Given the description of an element on the screen output the (x, y) to click on. 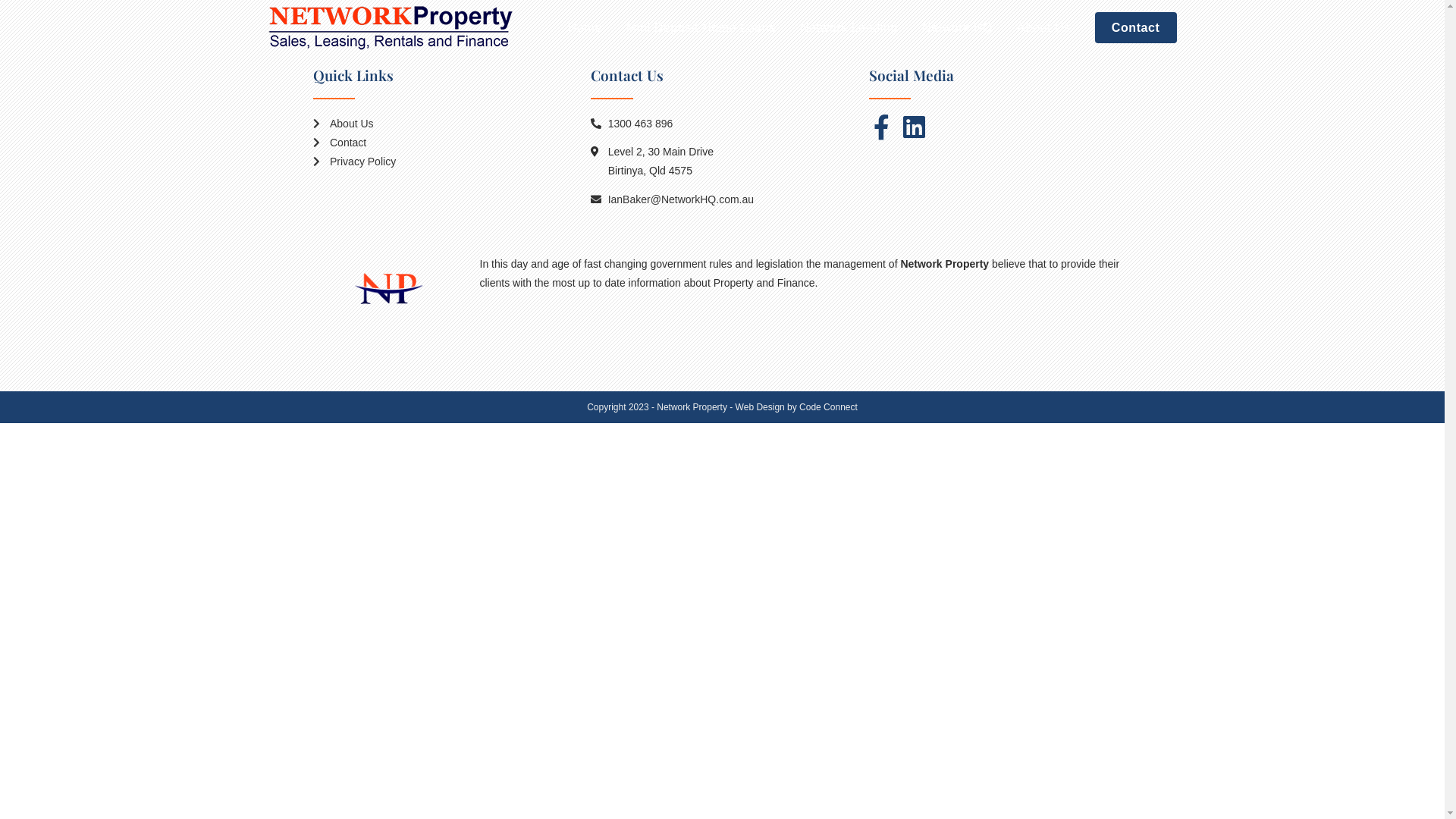
Privacy Policy Element type: text (443, 161)
Contact Element type: text (443, 142)
Web Design by Code Connect Element type: text (796, 406)
Home Element type: text (584, 28)
About Us Element type: text (1043, 28)
Mini Deposit Home Loans Element type: text (700, 28)
Network Lending Element type: text (848, 28)
Network HQ Element type: text (957, 28)
1300 463 896 Element type: text (721, 123)
About Us Element type: text (443, 123)
Contact Element type: text (1135, 28)
IanBaker@NetworkHQ.com.au Element type: text (721, 199)
